Given the description of an element on the screen output the (x, y) to click on. 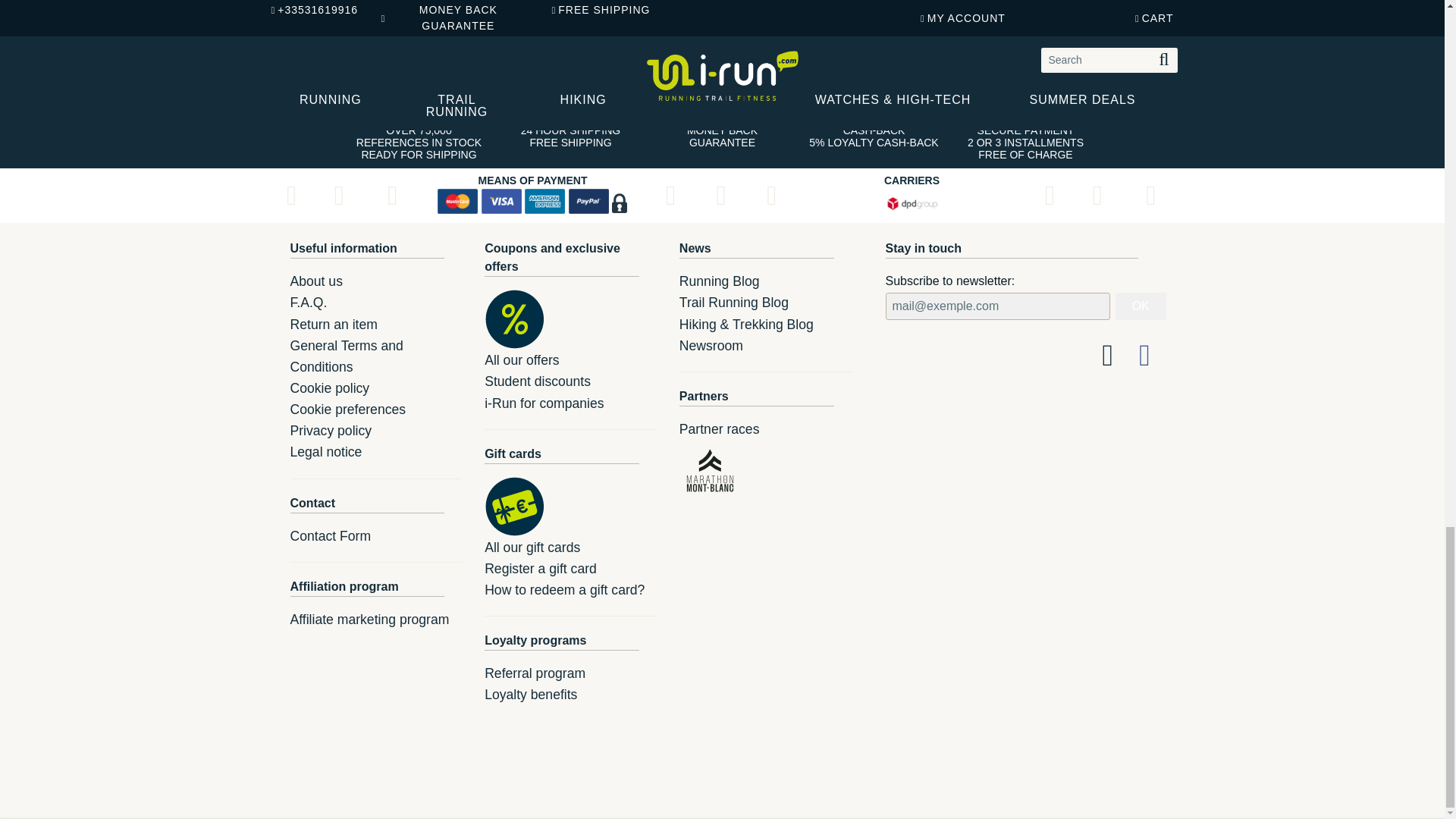
OK (1140, 306)
Marathon du Mont-Blanc (710, 470)
Gift cards (514, 506)
Coupons, vouchers and exclusive offers (514, 319)
